Given the description of an element on the screen output the (x, y) to click on. 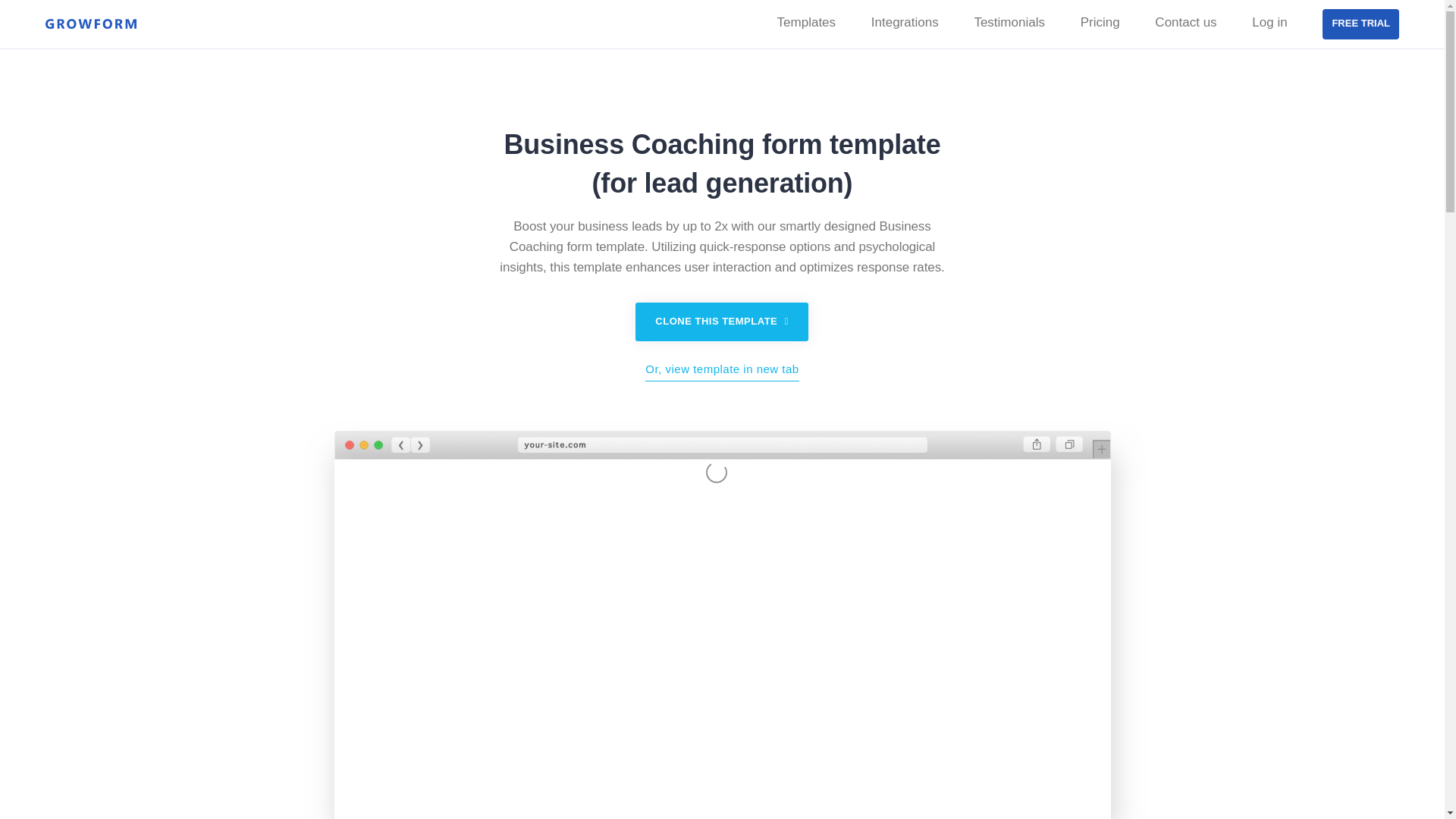
Contact us (1184, 22)
Or, view template in new tab (721, 371)
Templates (806, 22)
FREE TRIAL (1361, 24)
Testimonials (1009, 22)
Pricing (1099, 22)
Log in (1269, 22)
Integrations (904, 22)
CLONE THIS TEMPLATE (721, 321)
